Given the description of an element on the screen output the (x, y) to click on. 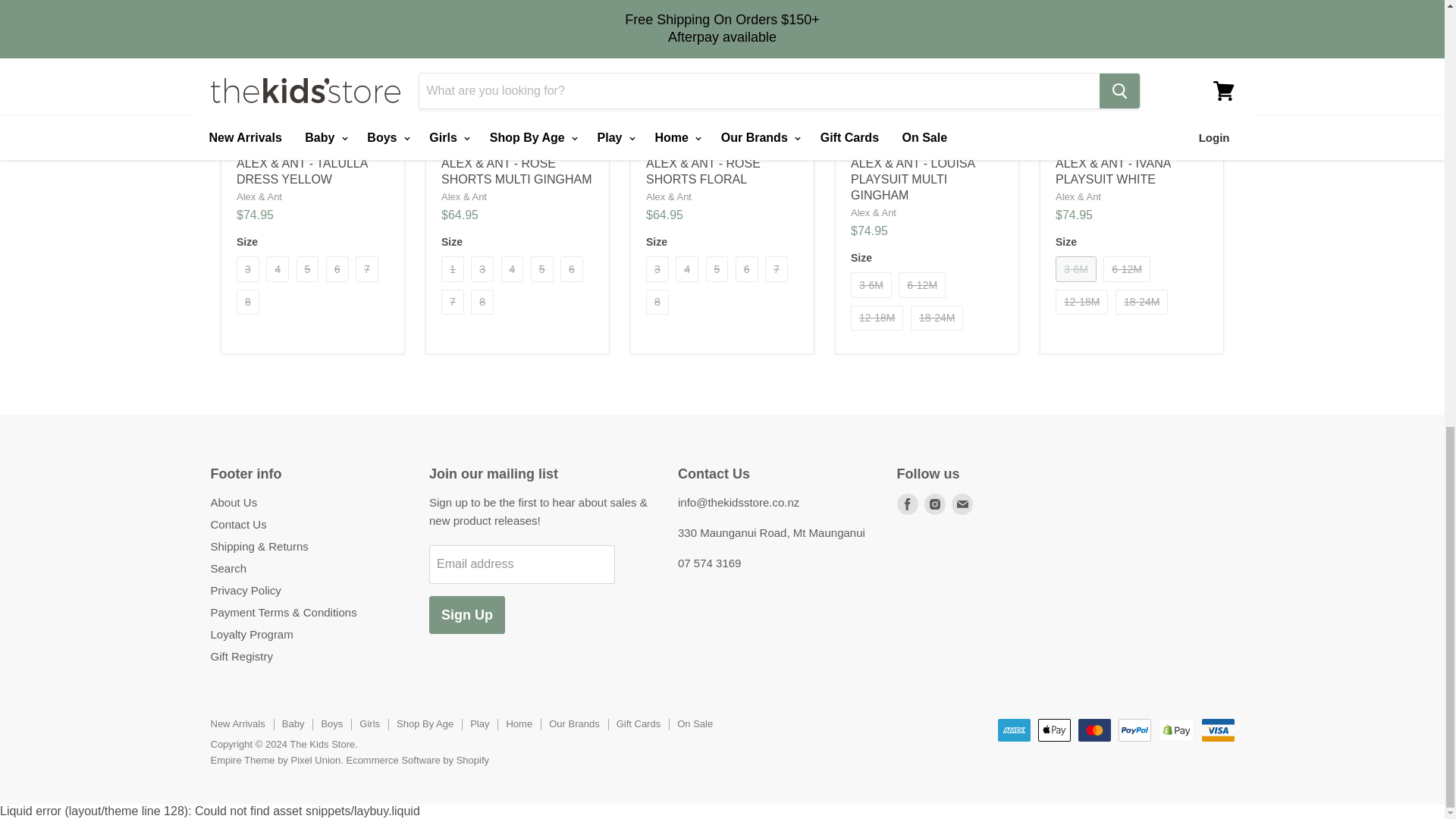
Instagram (933, 503)
Facebook (906, 503)
E-mail (961, 503)
